Given the description of an element on the screen output the (x, y) to click on. 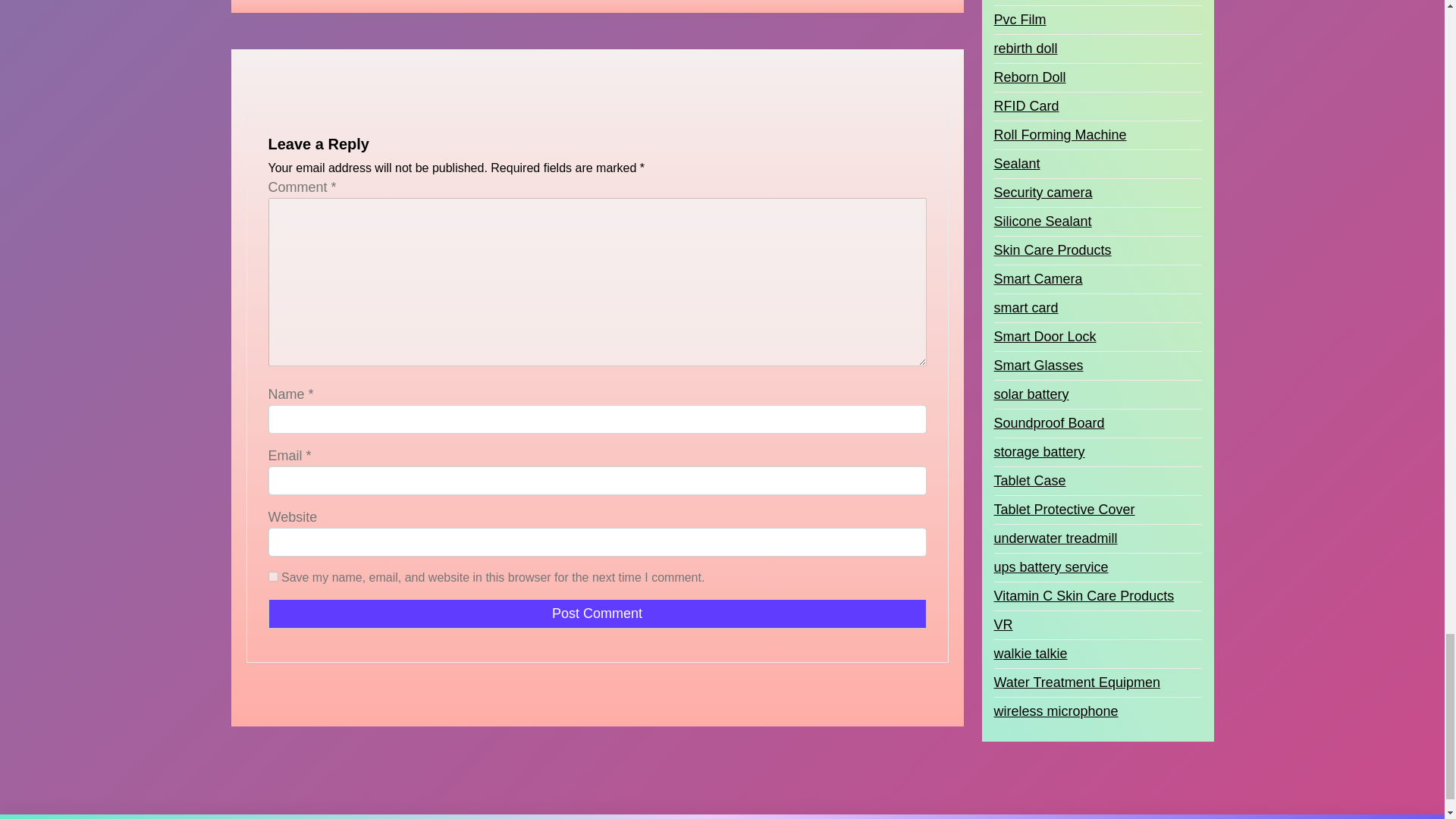
yes (272, 576)
Post Comment (596, 613)
Post Comment (596, 613)
